Given the description of an element on the screen output the (x, y) to click on. 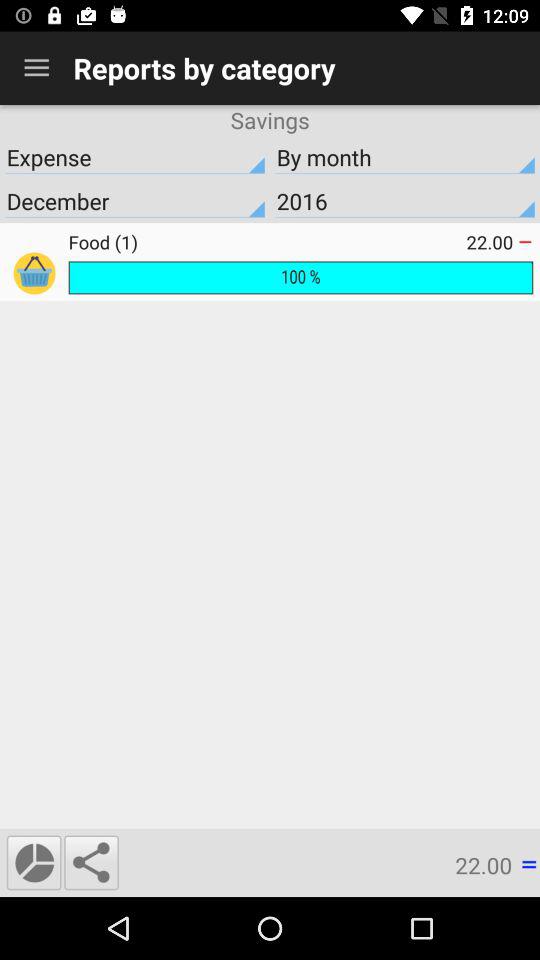
share reports (91, 862)
